Given the description of an element on the screen output the (x, y) to click on. 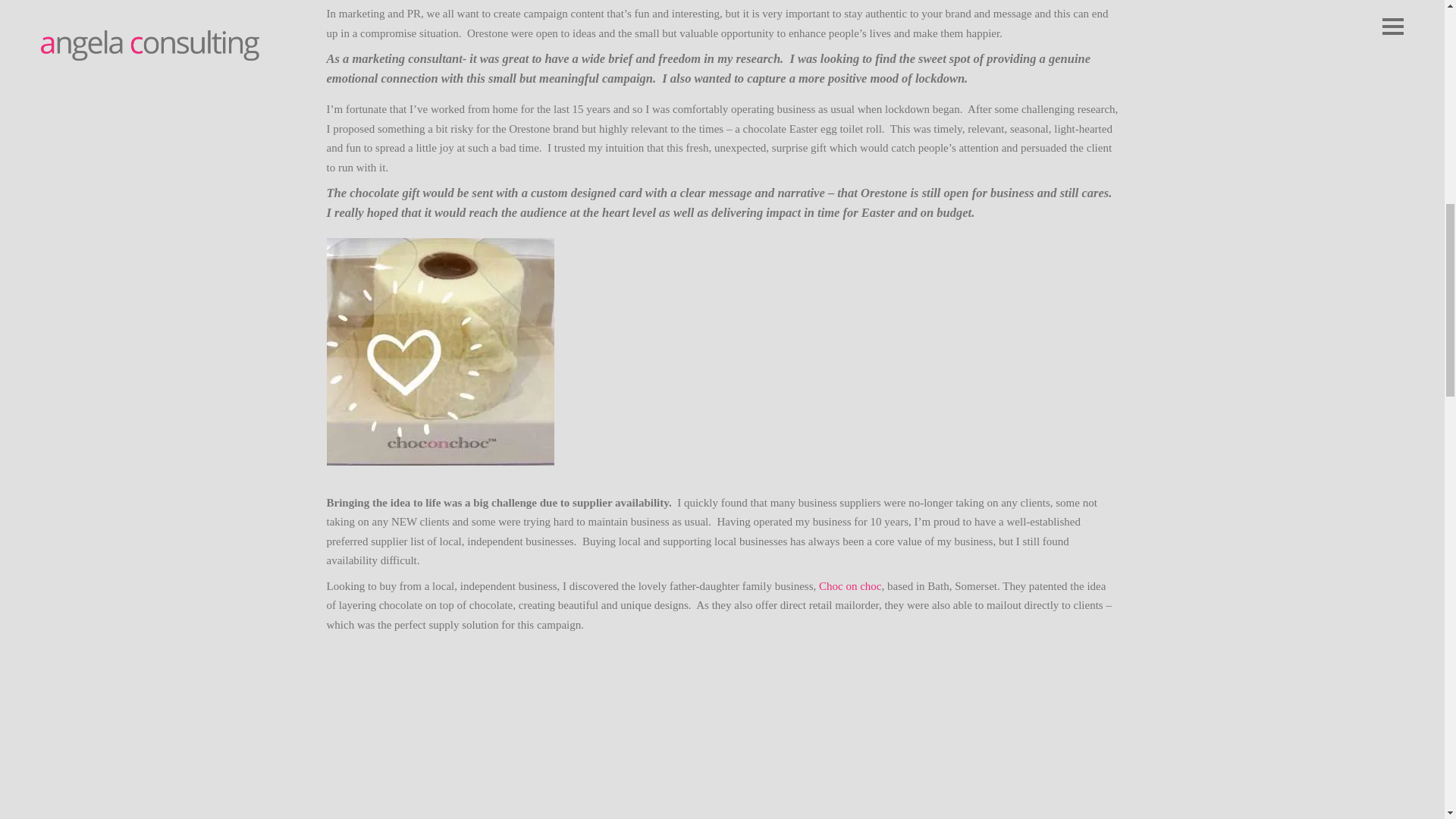
Choc on choc (849, 585)
